Given the description of an element on the screen output the (x, y) to click on. 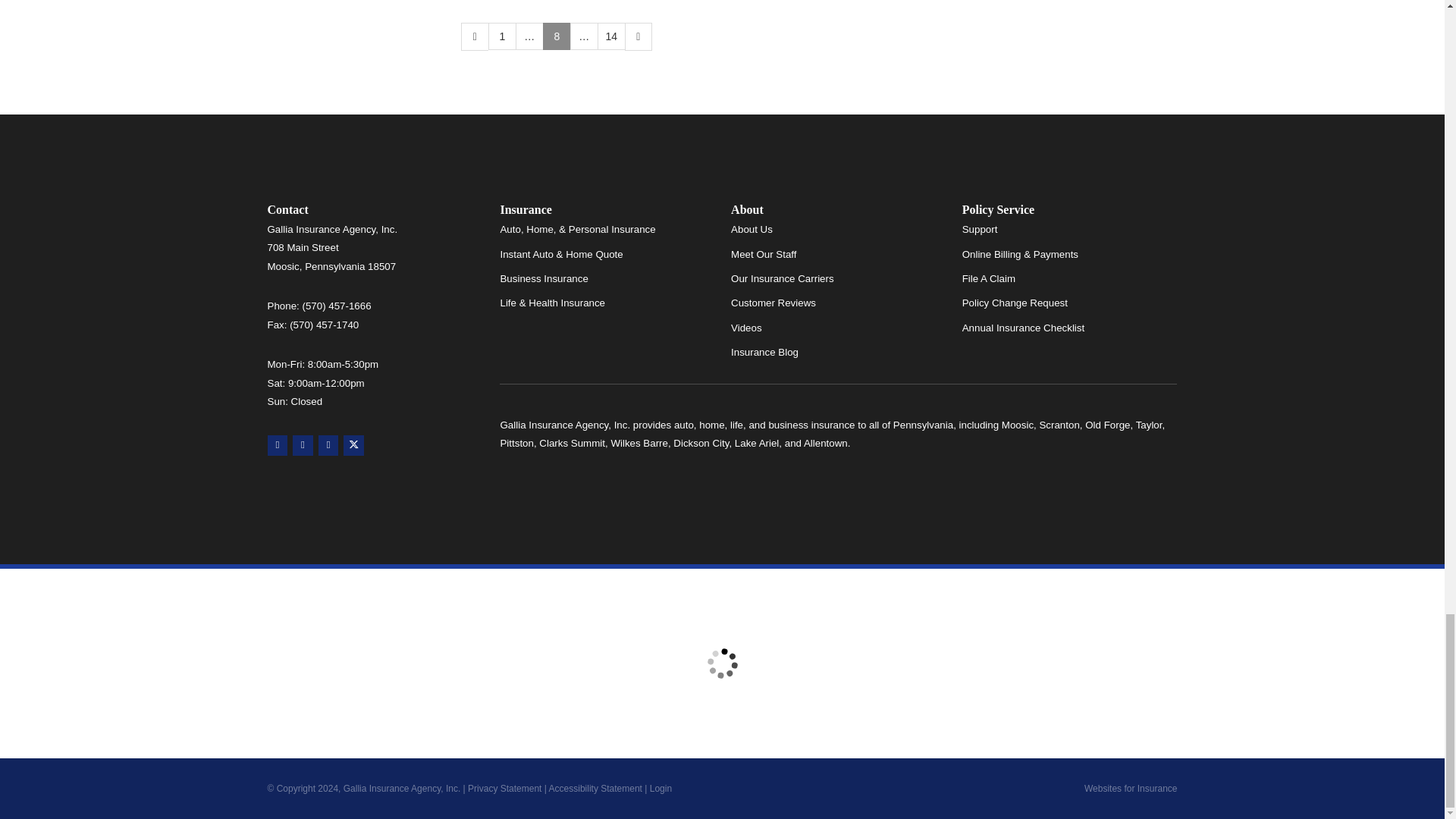
Facebook (328, 444)
Yelp (302, 444)
Google Maps (276, 444)
X (353, 444)
